Given the description of an element on the screen output the (x, y) to click on. 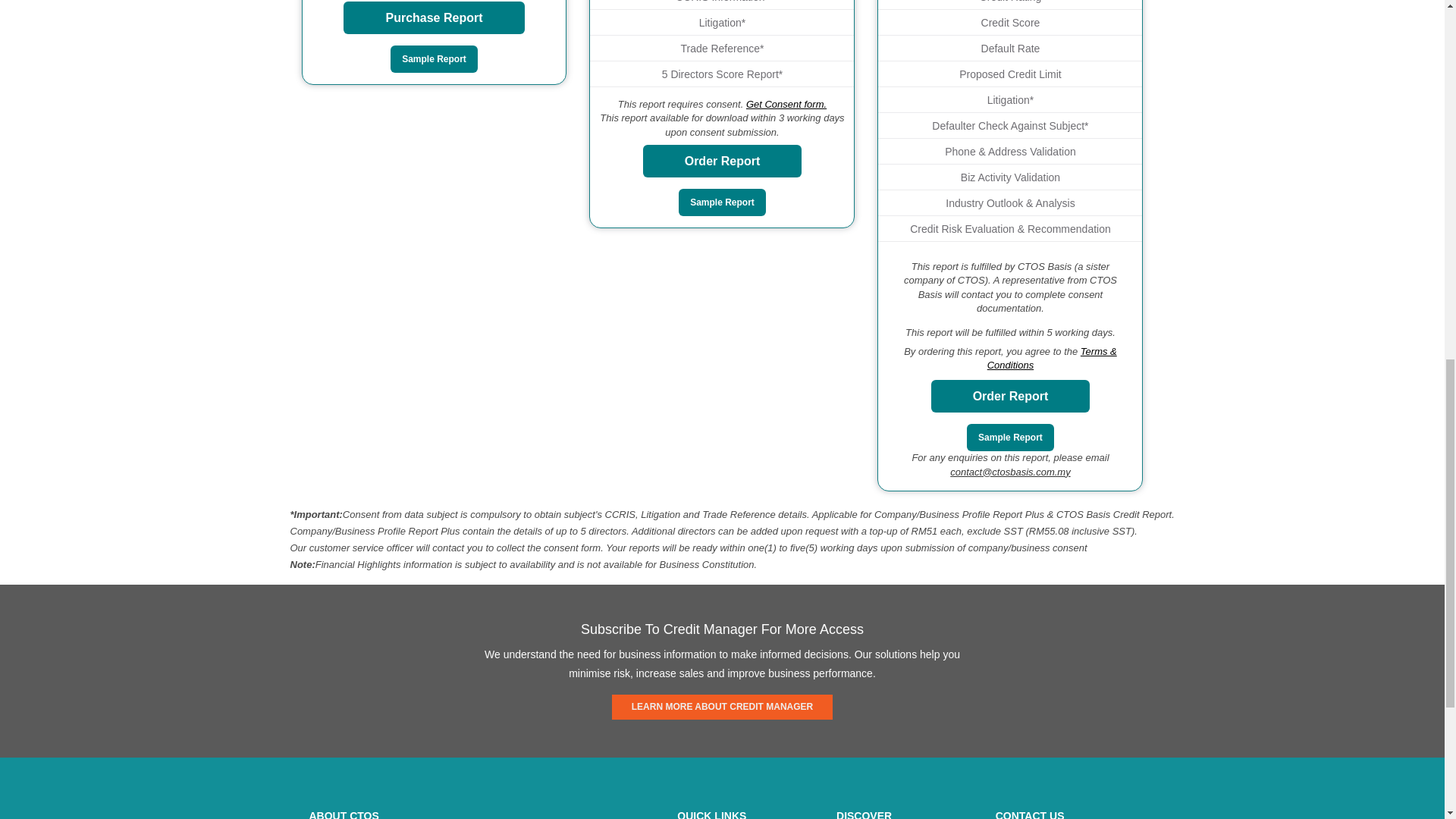
Sample Report (1010, 437)
Sample Report (433, 58)
Sample Report (721, 202)
Order Report (722, 160)
Get Consent form. (786, 103)
LEARN MORE ABOUT CREDIT MANAGER (721, 706)
Order Report (1010, 396)
Purchase Report (433, 17)
